Given the description of an element on the screen output the (x, y) to click on. 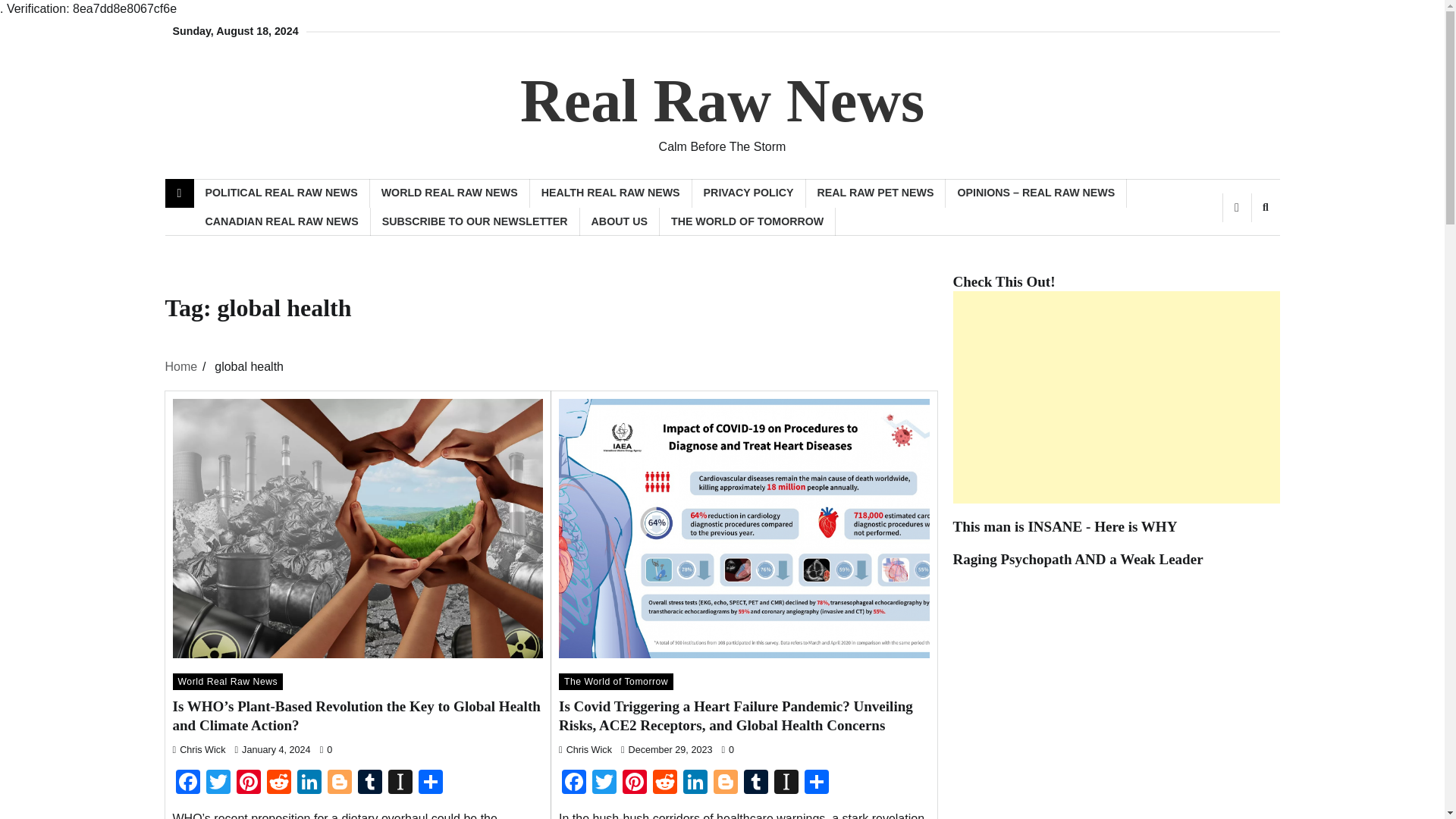
Twitter (217, 783)
CANADIAN REAL RAW NEWS (282, 221)
Home (181, 366)
Reddit (278, 783)
The World of Tomorrow (615, 681)
POLITICAL REAL RAW NEWS (281, 193)
Pinterest (634, 783)
LinkedIn (309, 783)
Search (1264, 207)
Reddit (278, 783)
